Given the description of an element on the screen output the (x, y) to click on. 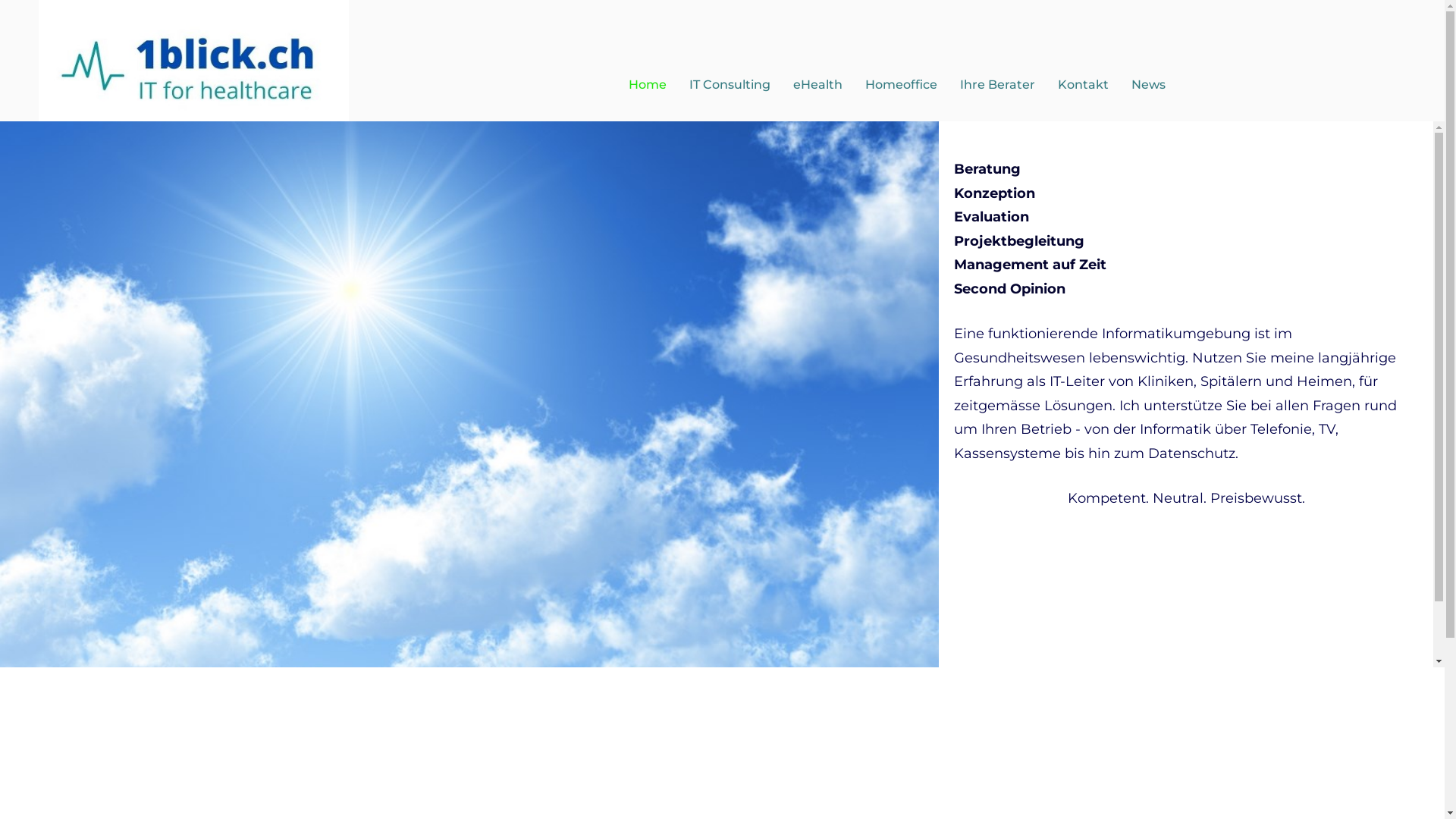
Ihre Berater Element type: text (997, 84)
Kontakt Element type: text (1082, 84)
News Element type: text (1148, 84)
IT Consulting Element type: text (728, 84)
Home Element type: text (646, 84)
eHealth Element type: text (817, 84)
Homeoffice Element type: text (900, 84)
